Given the description of an element on the screen output the (x, y) to click on. 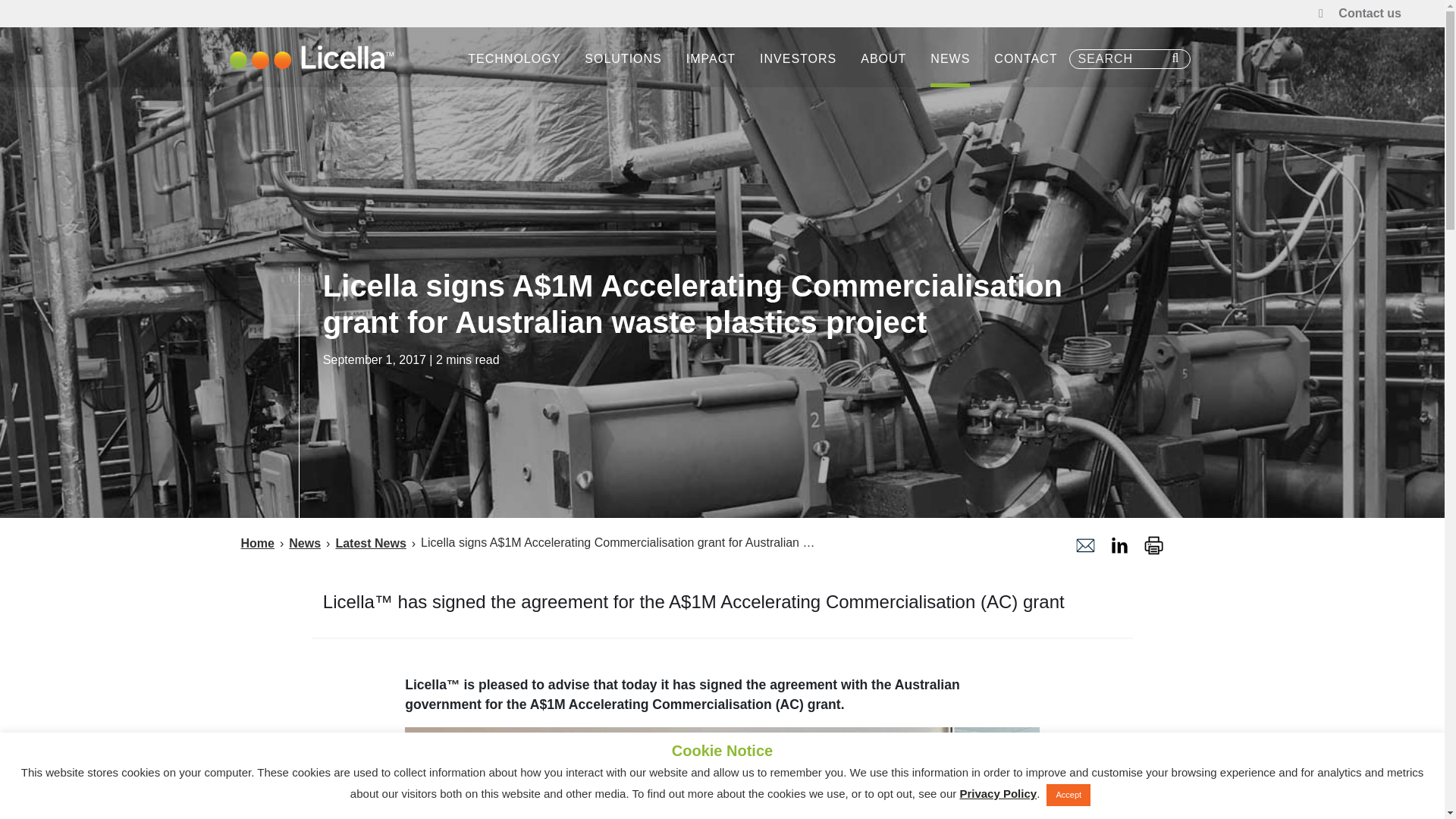
Home Element type: text (257, 542)
Latest News Element type: text (370, 542)
INVESTORS Element type: text (797, 58)
News Element type: text (304, 542)
ABOUT Element type: text (883, 58)
Accept Element type: text (1068, 795)
Contact us Element type: text (1369, 12)
CONTACT Element type: text (1025, 58)
IMPACT Element type: text (710, 58)
NEWS Element type: text (949, 58)
SOLUTIONS Element type: text (622, 58)
TECHNOLOGY Element type: text (513, 58)
Privacy Policy Element type: text (997, 793)
